Given the description of an element on the screen output the (x, y) to click on. 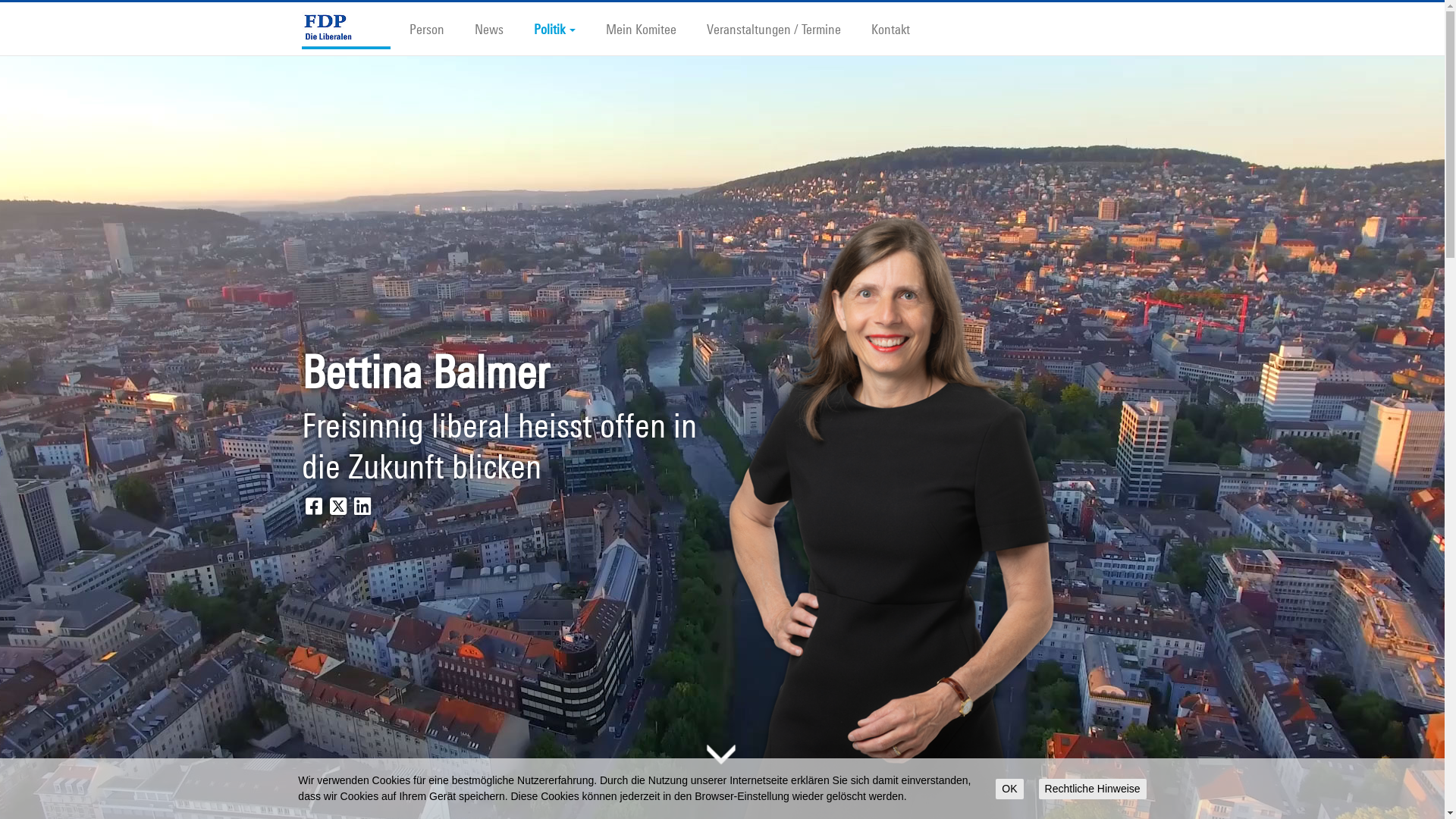
Home Element type: hover (352, 28)
OK Element type: text (1008, 788)
Person Element type: text (438, 25)
News Element type: text (500, 25)
Mein Komitee Element type: text (652, 25)
Veranstaltungen / Termine Element type: text (784, 25)
Kontakt Element type: text (901, 25)
Politik Element type: text (565, 25)
Rechtliche Hinweise Element type: text (1092, 788)
